Given the description of an element on the screen output the (x, y) to click on. 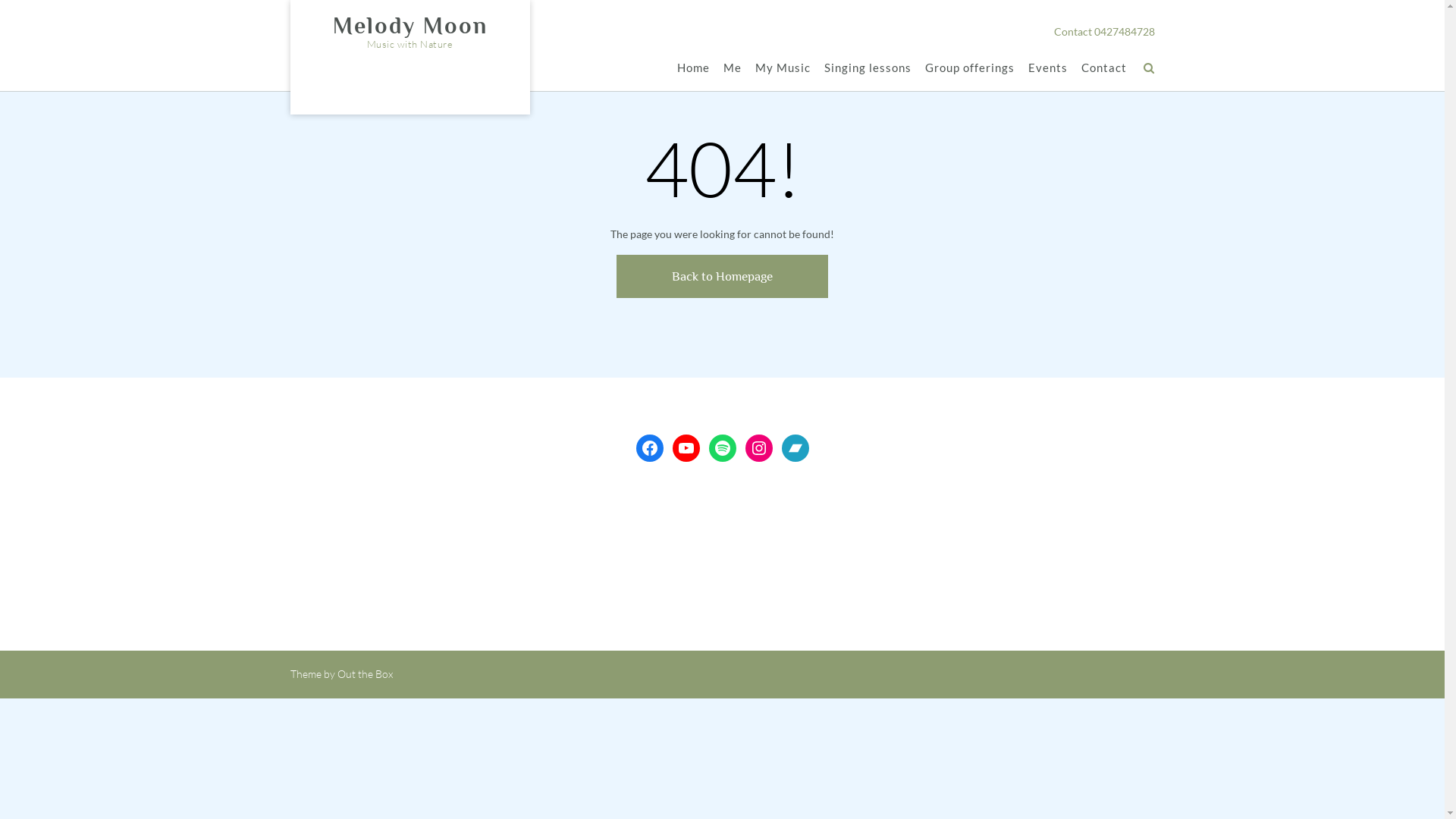
Back to Homepage Element type: text (722, 276)
Out the Box Element type: text (364, 673)
Melody Moon Element type: hover (1066, 513)
Contact Element type: text (1103, 67)
Instagram Element type: text (757, 447)
Group offerings Element type: text (969, 67)
My Music Element type: text (782, 67)
Facebook Element type: text (648, 447)
Singing lessons Element type: text (866, 67)
Melody Moon Element type: text (409, 25)
Bandcamp Element type: text (794, 447)
YouTube Element type: text (685, 447)
Spotify Element type: text (721, 447)
Home Element type: text (692, 67)
Me Element type: text (732, 67)
Events Element type: text (1047, 67)
